Given the description of an element on the screen output the (x, y) to click on. 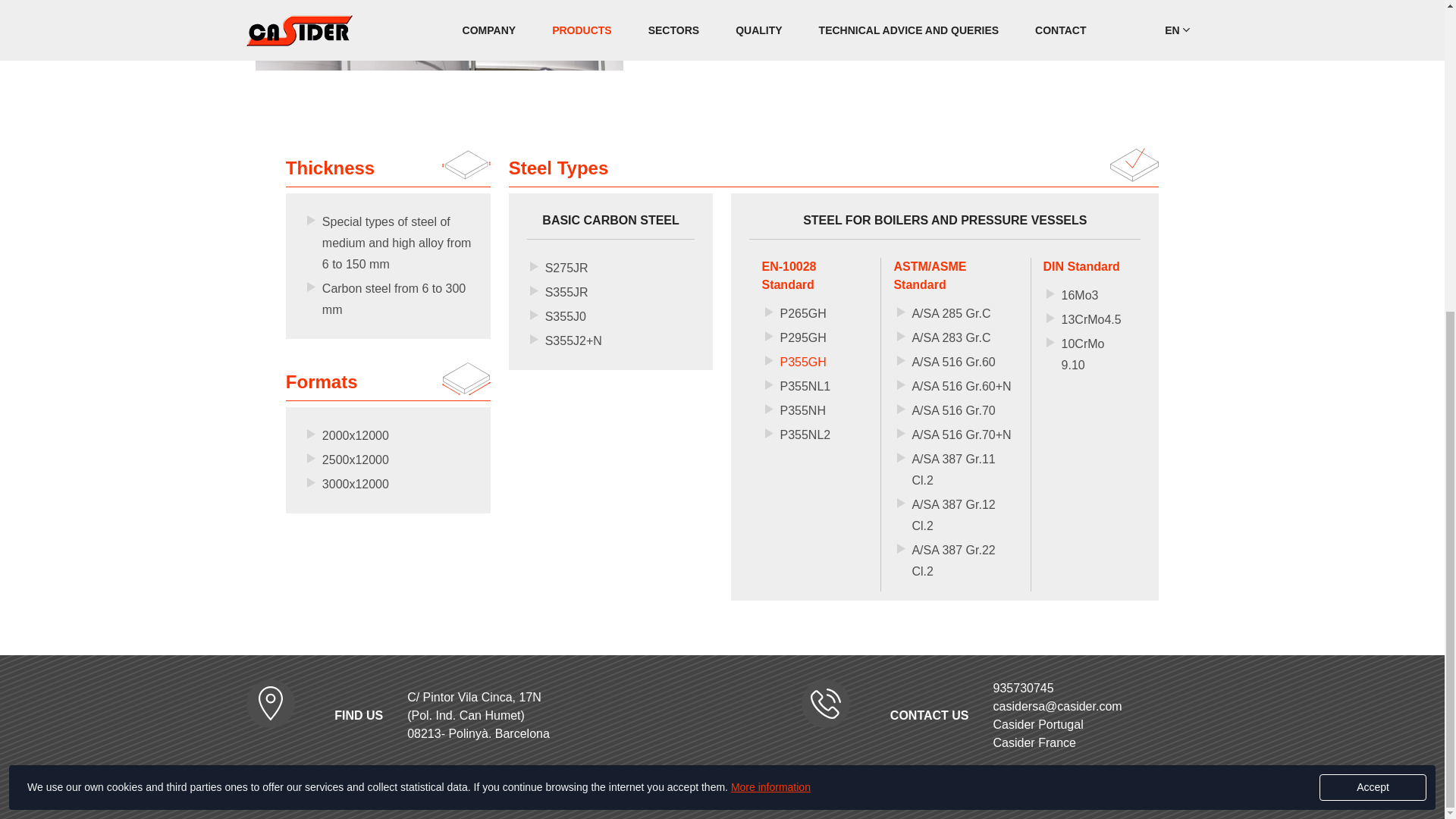
P355NL2 (803, 434)
S355JR (566, 291)
Casider Portugal (1037, 724)
S355J0 (565, 316)
P355GH (801, 361)
Casider France (1033, 742)
Cookies Policy (770, 290)
Cookies Policy (795, 792)
More information (770, 290)
P355GH (801, 361)
